Given the description of an element on the screen output the (x, y) to click on. 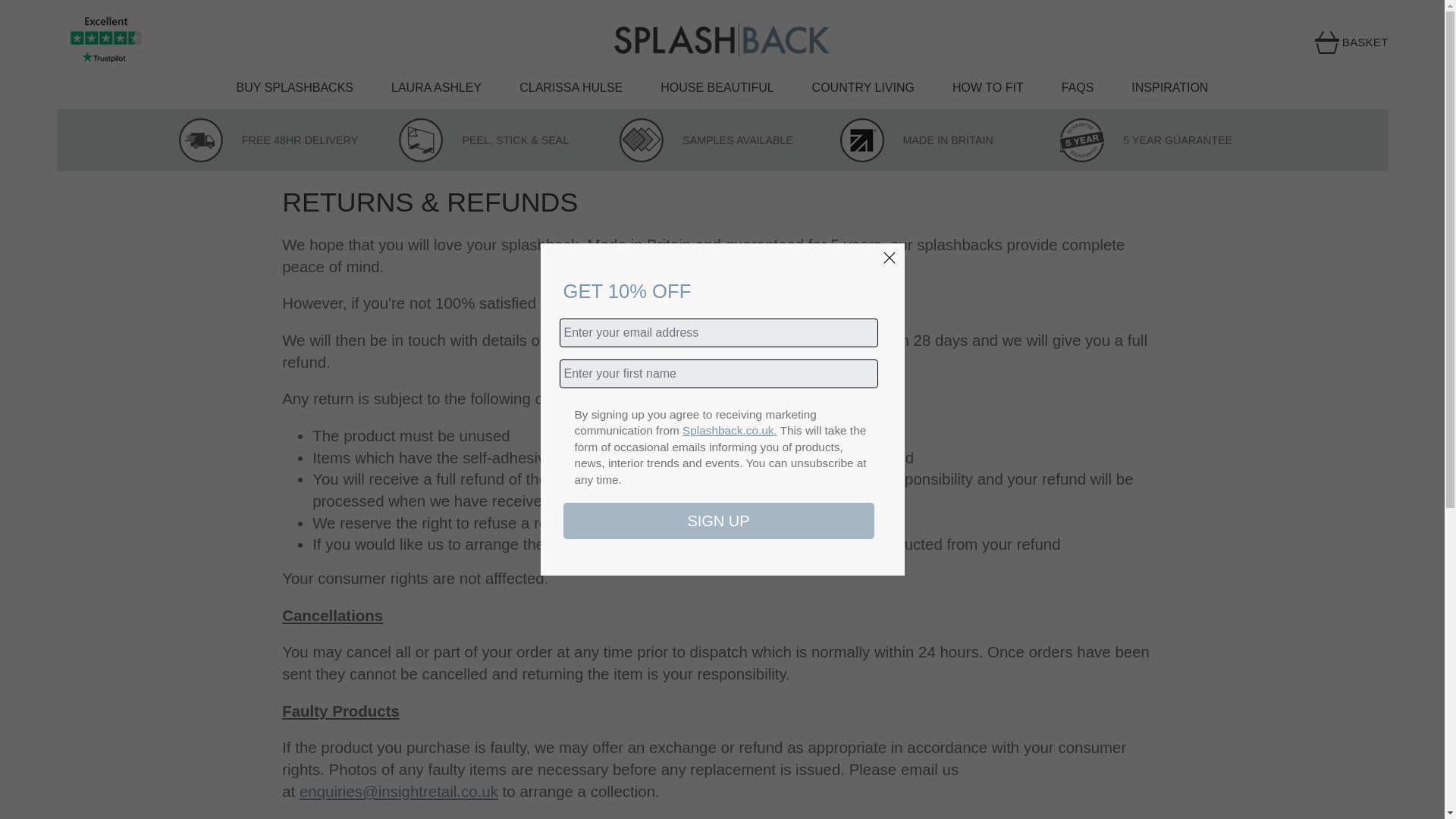
FREE 48HR DELIVERY (268, 139)
COUNTRY LIVING (882, 92)
SIGN UP (717, 520)
BASKET (1365, 42)
FAQS (1096, 92)
5 YEAR GUARANTEE (1145, 139)
SAMPLES AVAILABLE (706, 139)
INSPIRATION (1169, 92)
HOW TO FIT (1006, 92)
BUY SPLASHBACKS (313, 92)
HOUSE BEAUTIFUL (735, 92)
MADE IN BRITAIN (916, 139)
CLARISSA HULSE (590, 92)
LAURA ASHLEY (455, 92)
